Given the description of an element on the screen output the (x, y) to click on. 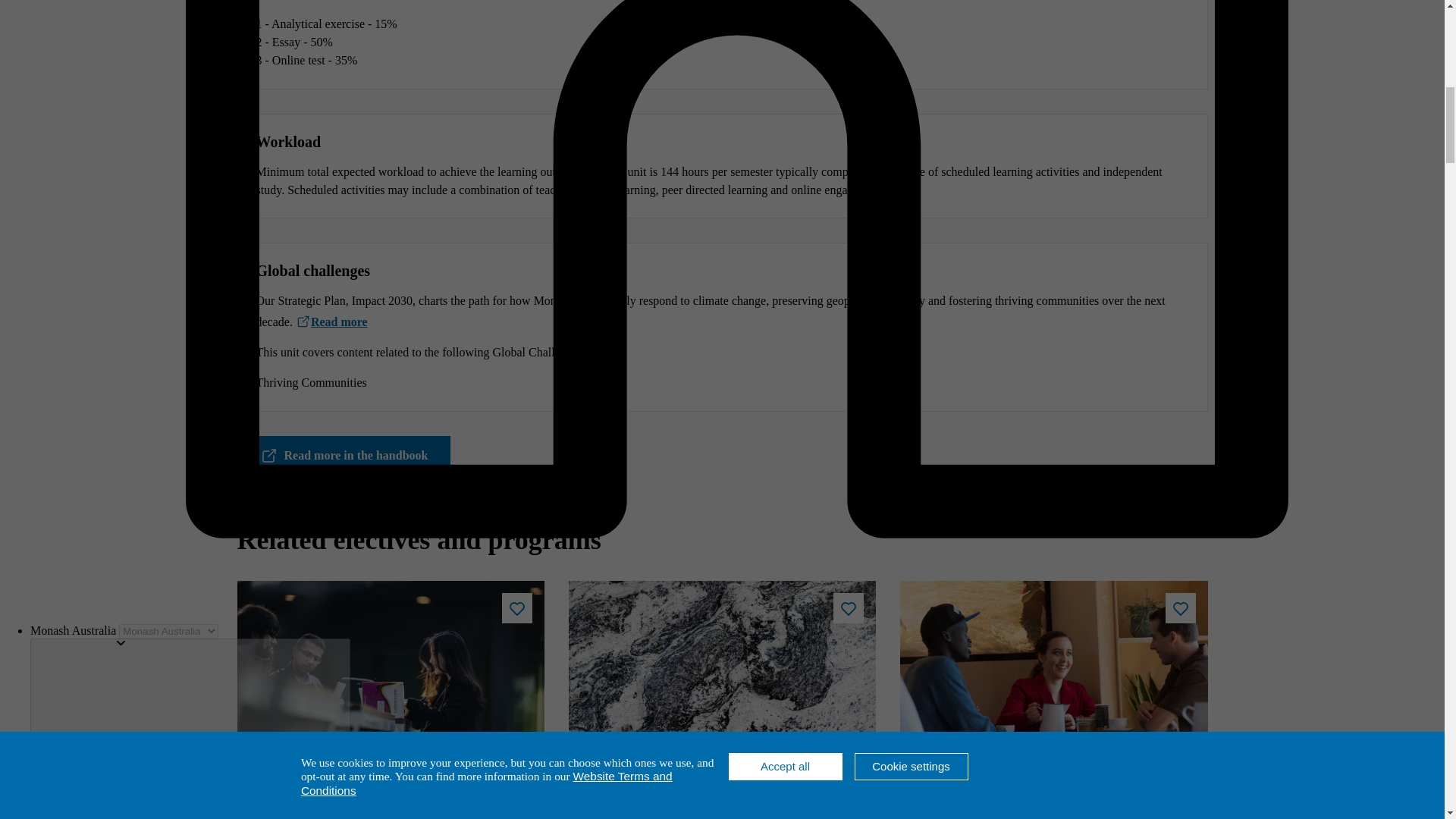
Read more in the handbook (342, 455)
Read more (331, 321)
Add Leave No One Behind to saved programs (1179, 607)
Add Net Zero Me to saved programs (847, 607)
